Given the description of an element on the screen output the (x, y) to click on. 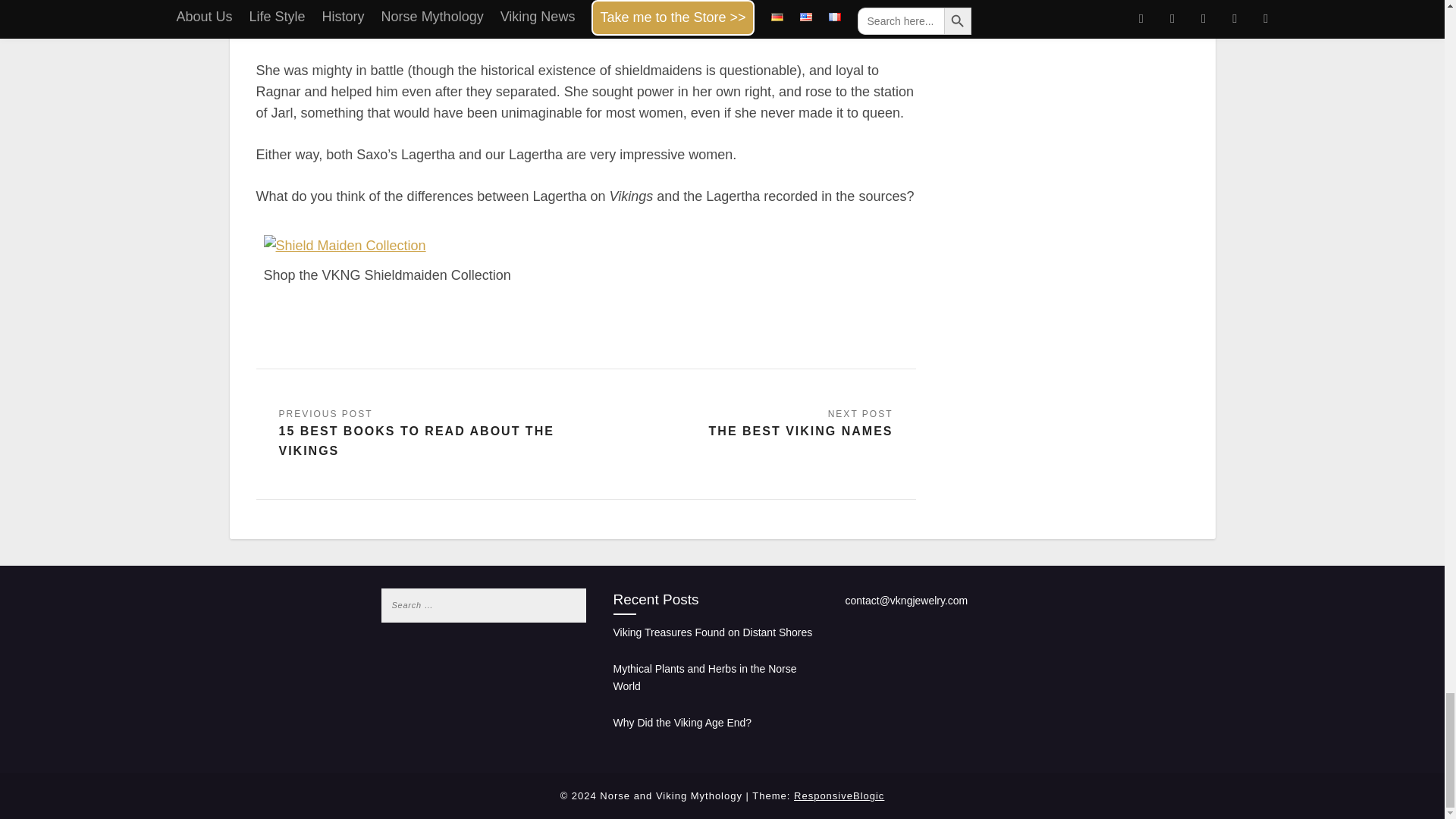
15 BEST BOOKS TO READ ABOUT THE VIKINGS (422, 434)
THE BEST VIKING NAMES (801, 424)
